Given the description of an element on the screen output the (x, y) to click on. 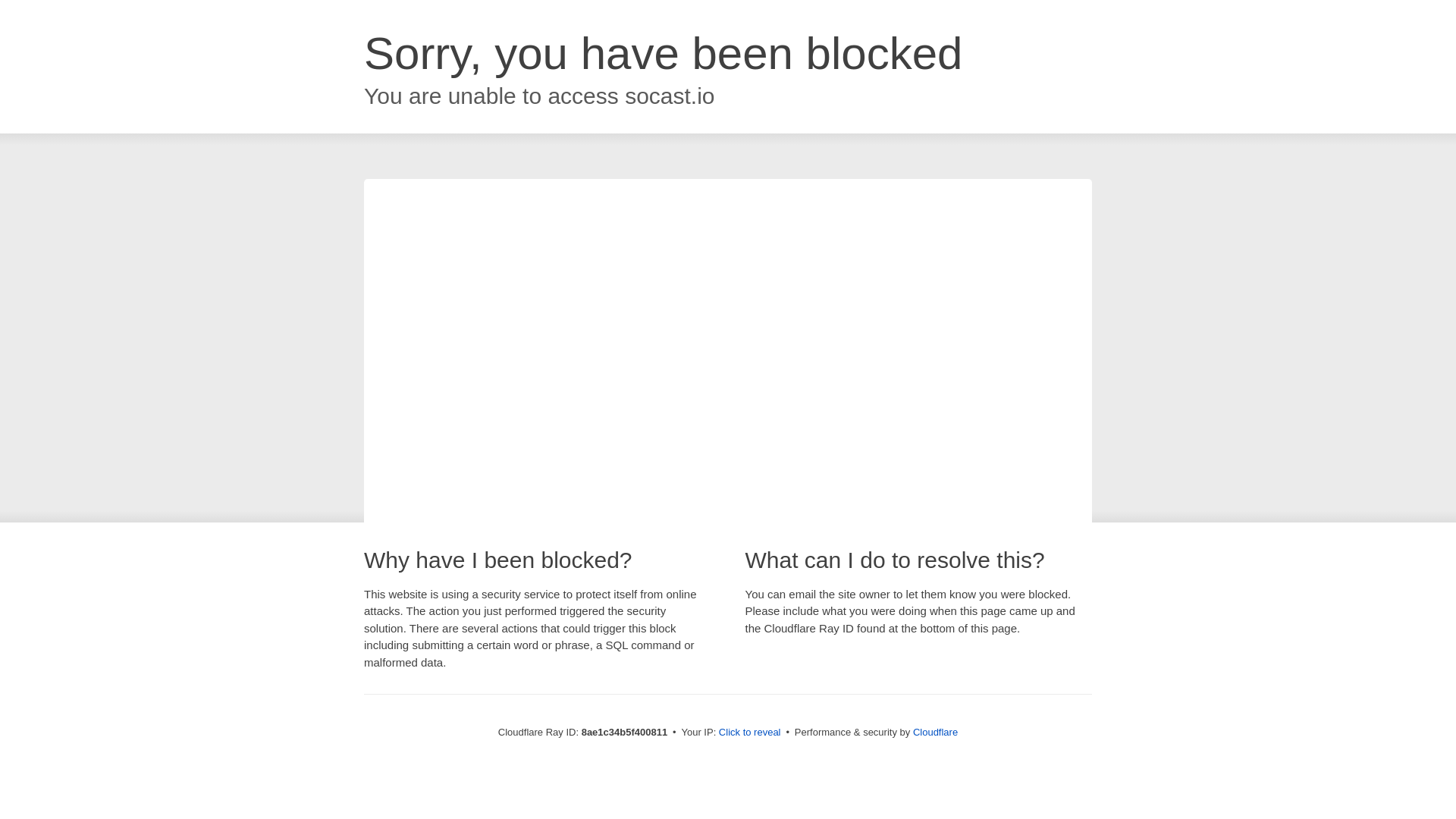
Cloudflare (935, 731)
Click to reveal (749, 732)
